Given the description of an element on the screen output the (x, y) to click on. 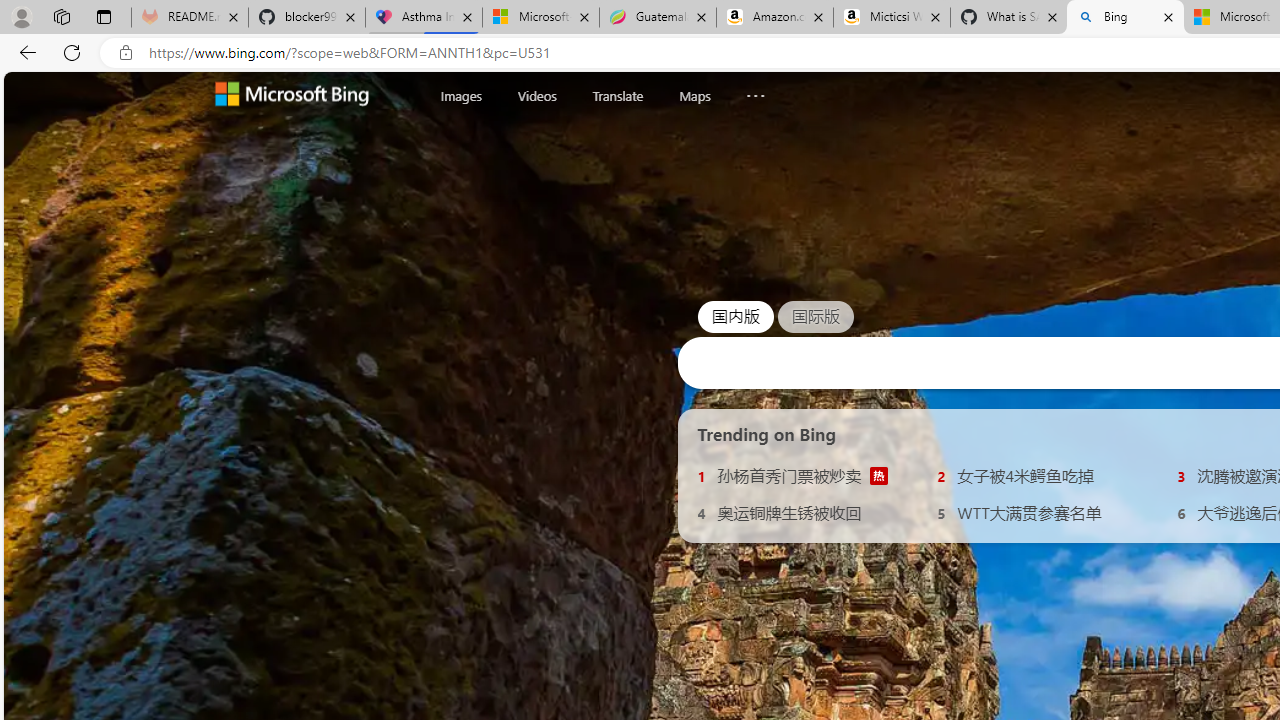
Class: scopes  (620, 95)
